Given the description of an element on the screen output the (x, y) to click on. 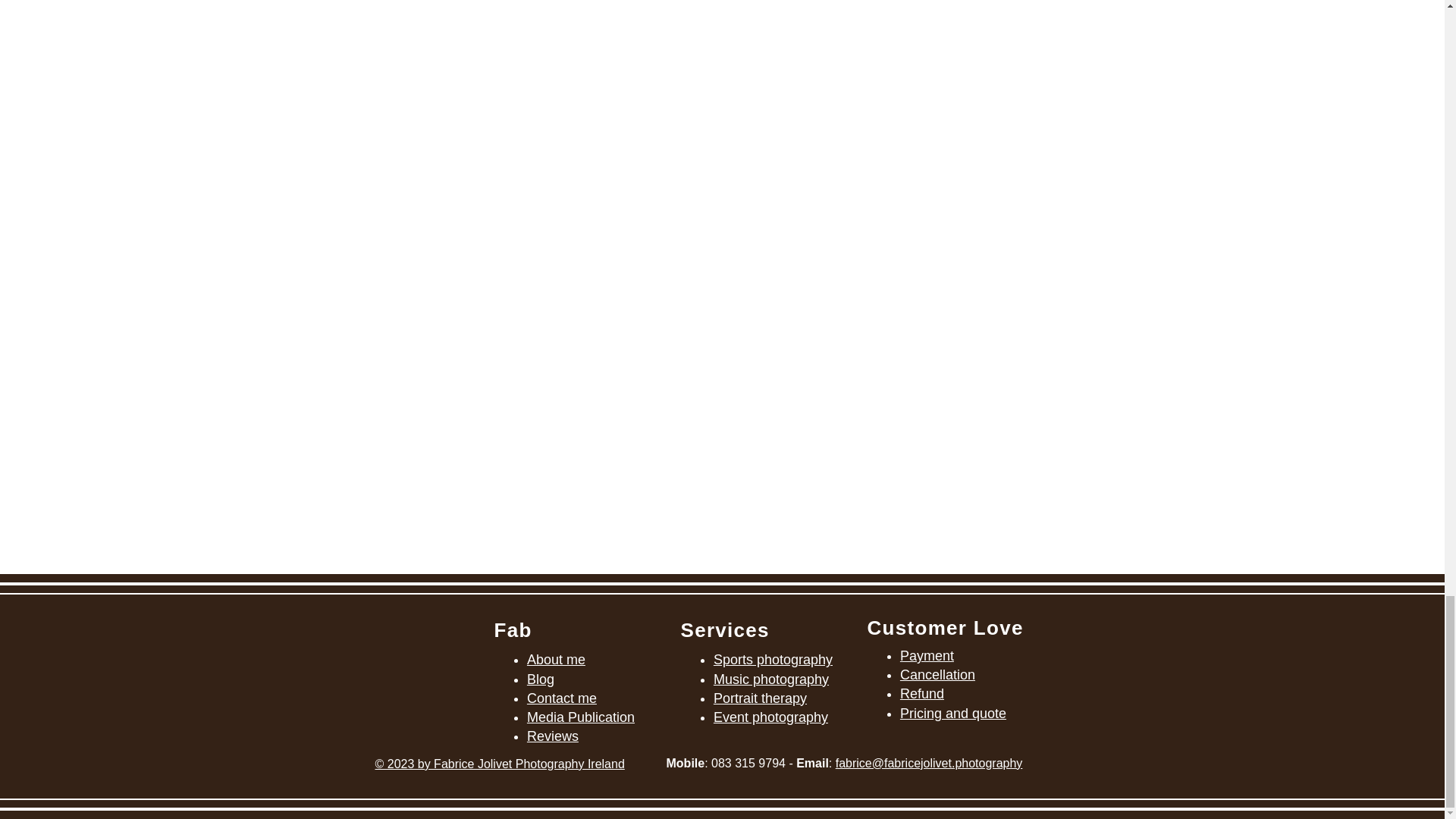
Media Publication (580, 717)
Music photography (770, 679)
Cancellation (937, 674)
Sports photography (772, 659)
Payment (926, 655)
Refund (921, 693)
Reviews (552, 735)
Portrait therapy (759, 698)
Contact me (561, 698)
Event photography (770, 717)
Blog (540, 679)
About me (556, 659)
Pricing and quote (952, 713)
